Given the description of an element on the screen output the (x, y) to click on. 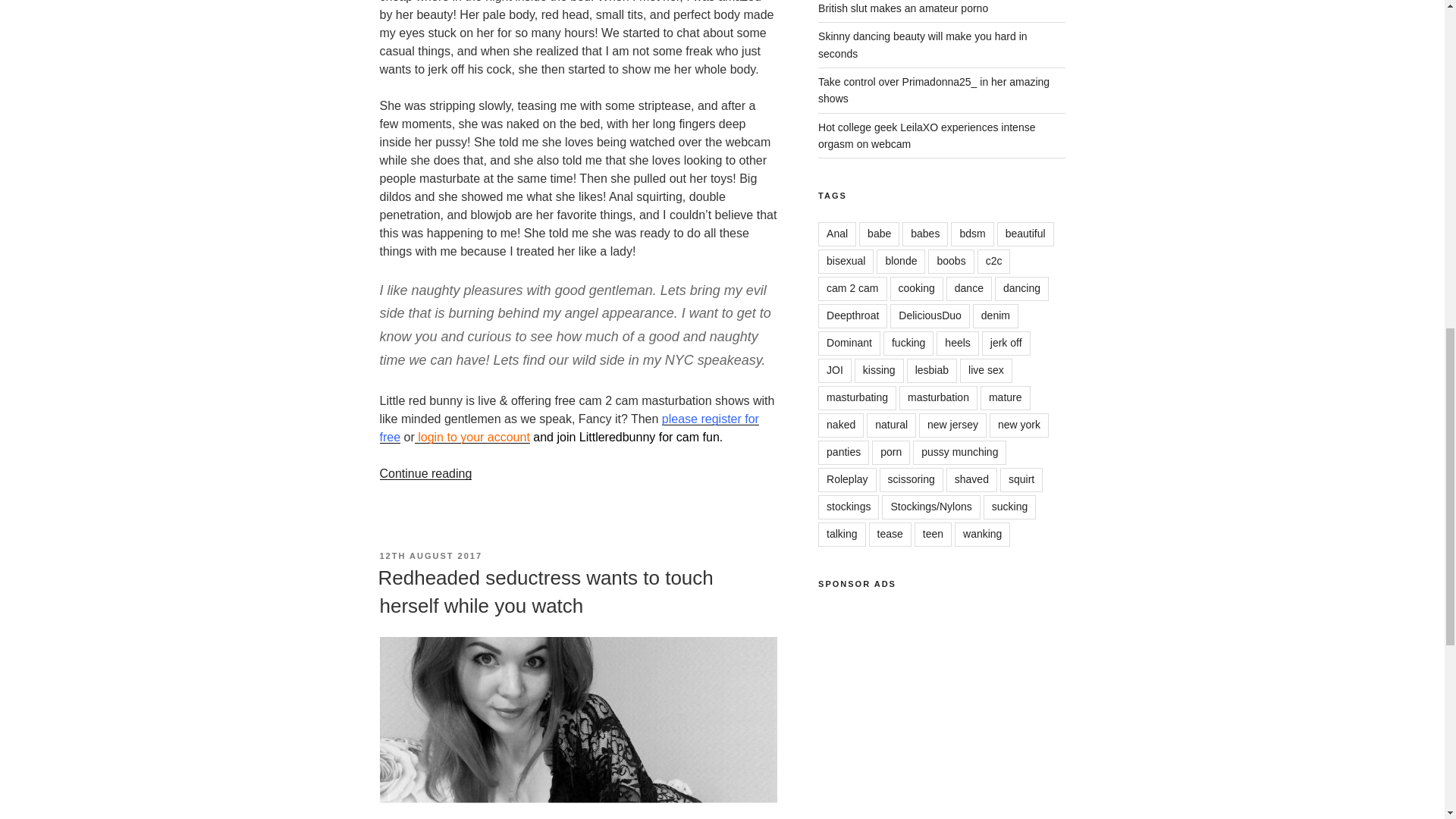
please register for free (568, 427)
Redheaded seductress wants to touch herself while you watch (545, 591)
Anal (837, 233)
login to your account (471, 436)
British slut makes an amateur porno (903, 8)
Skinny dancing beauty will make you hard in seconds (922, 44)
12TH AUGUST 2017 (429, 555)
